Given the description of an element on the screen output the (x, y) to click on. 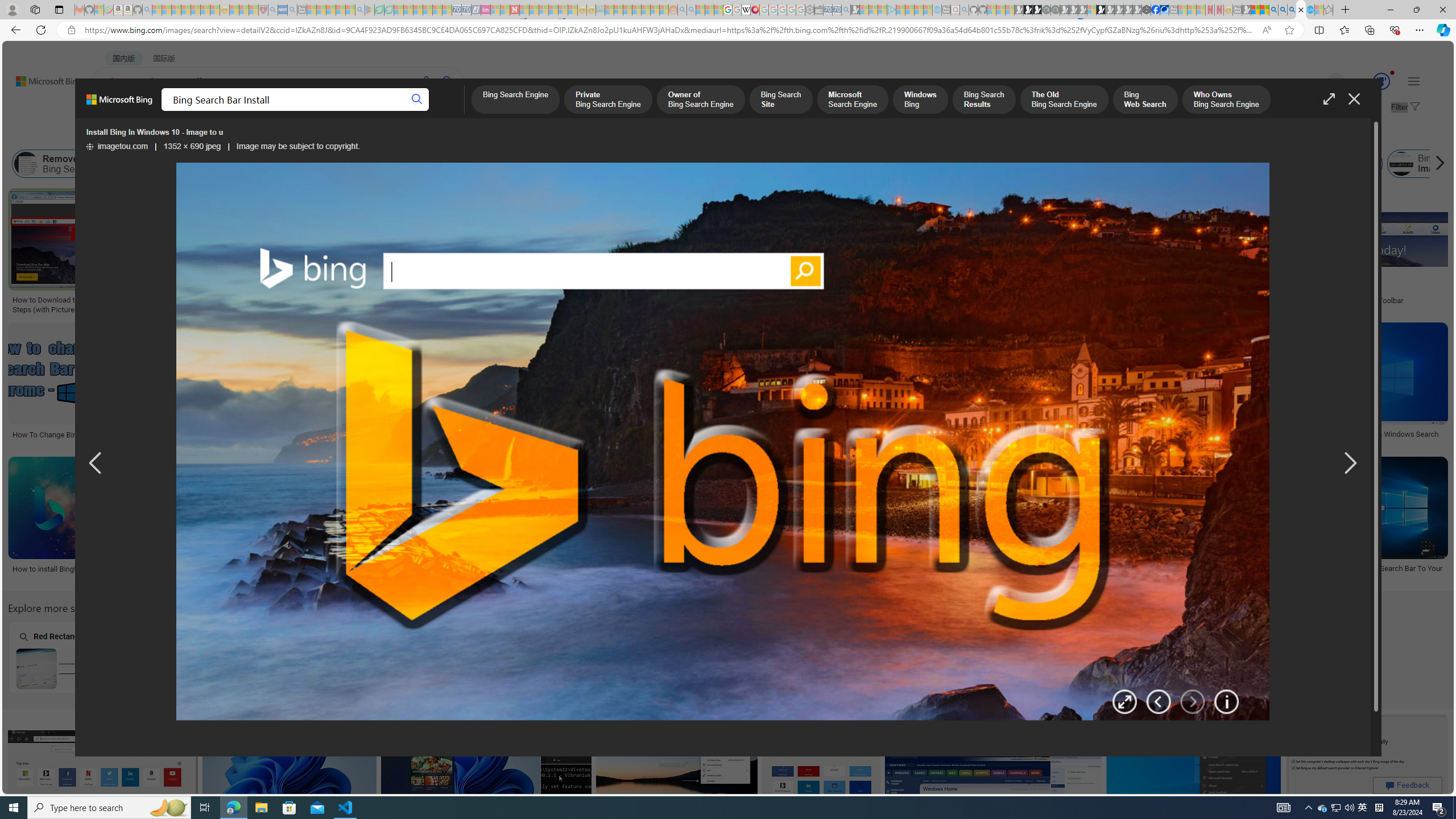
Bing Search Bar On Home Screen Home Screen (515, 656)
Bing Web Search (1144, 100)
Download Bing Bar, the new Bing ToolbarSave (1356, 252)
Install Bing In Windows 10 - Image to uSave (277, 521)
Windows Bing (919, 100)
The Old Bing Search Engine (1063, 100)
Close image (1352, 99)
Animation (1392, 72)
